Given the description of an element on the screen output the (x, y) to click on. 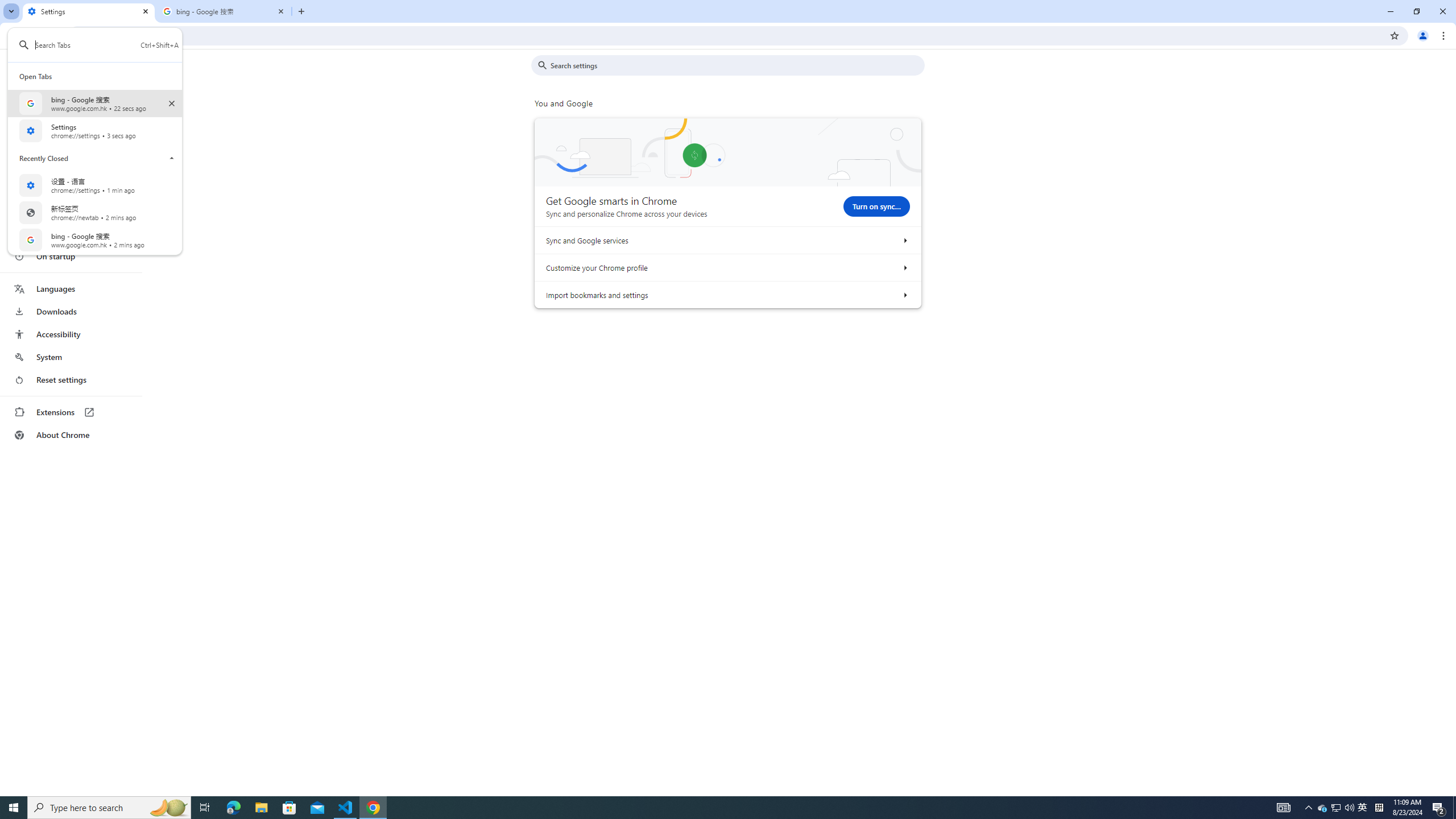
Microsoft Store (289, 807)
Notification Chevron (1362, 807)
Google Chrome - 1 running window (1308, 807)
Visual Studio Code - 1 running window (373, 807)
Accessibility (345, 807)
Start (70, 333)
Toggle Recently Closed Items (13, 807)
Show desktop (171, 157)
